Given the description of an element on the screen output the (x, y) to click on. 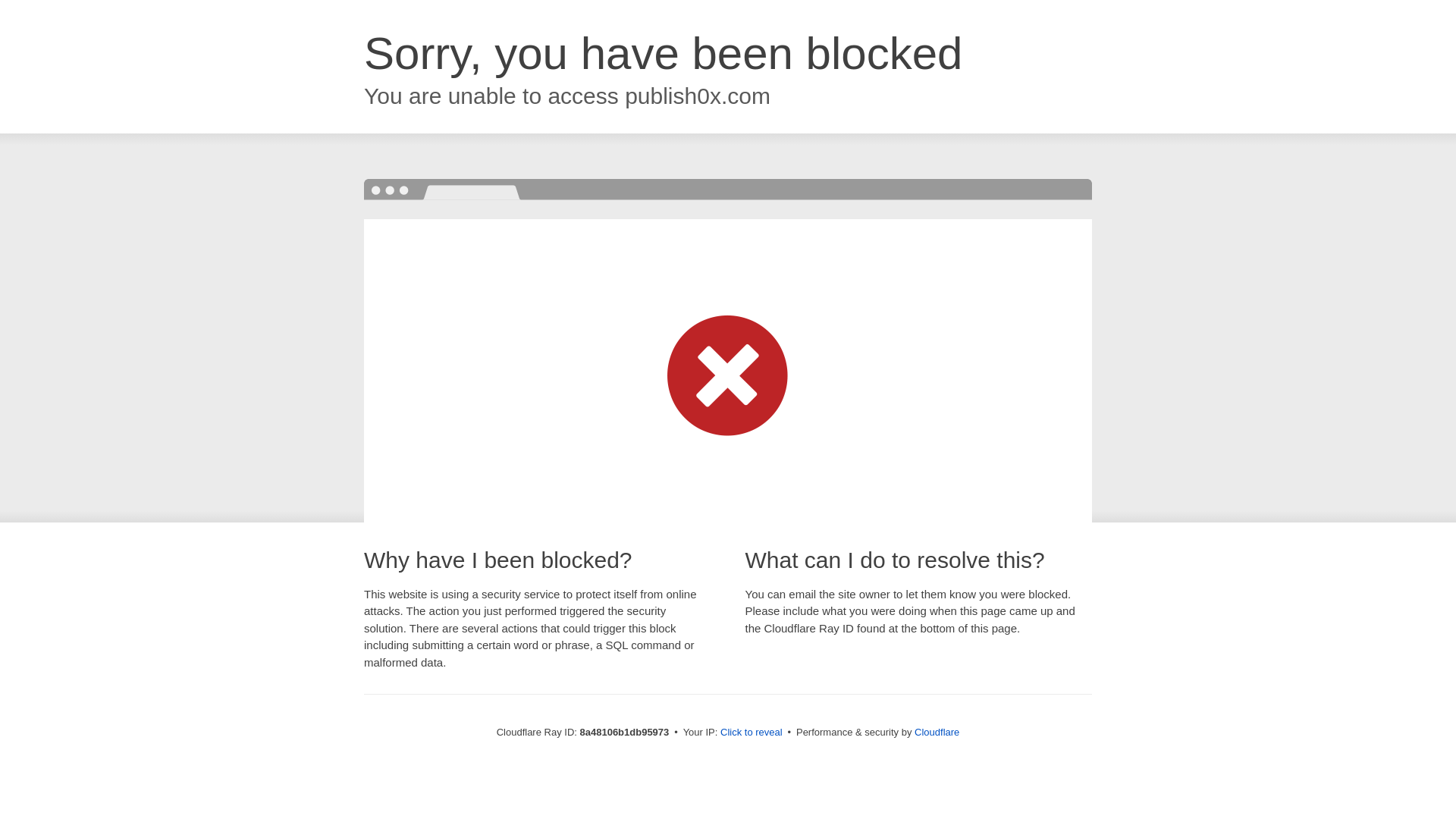
Cloudflare (936, 731)
Click to reveal (751, 732)
